Given the description of an element on the screen output the (x, y) to click on. 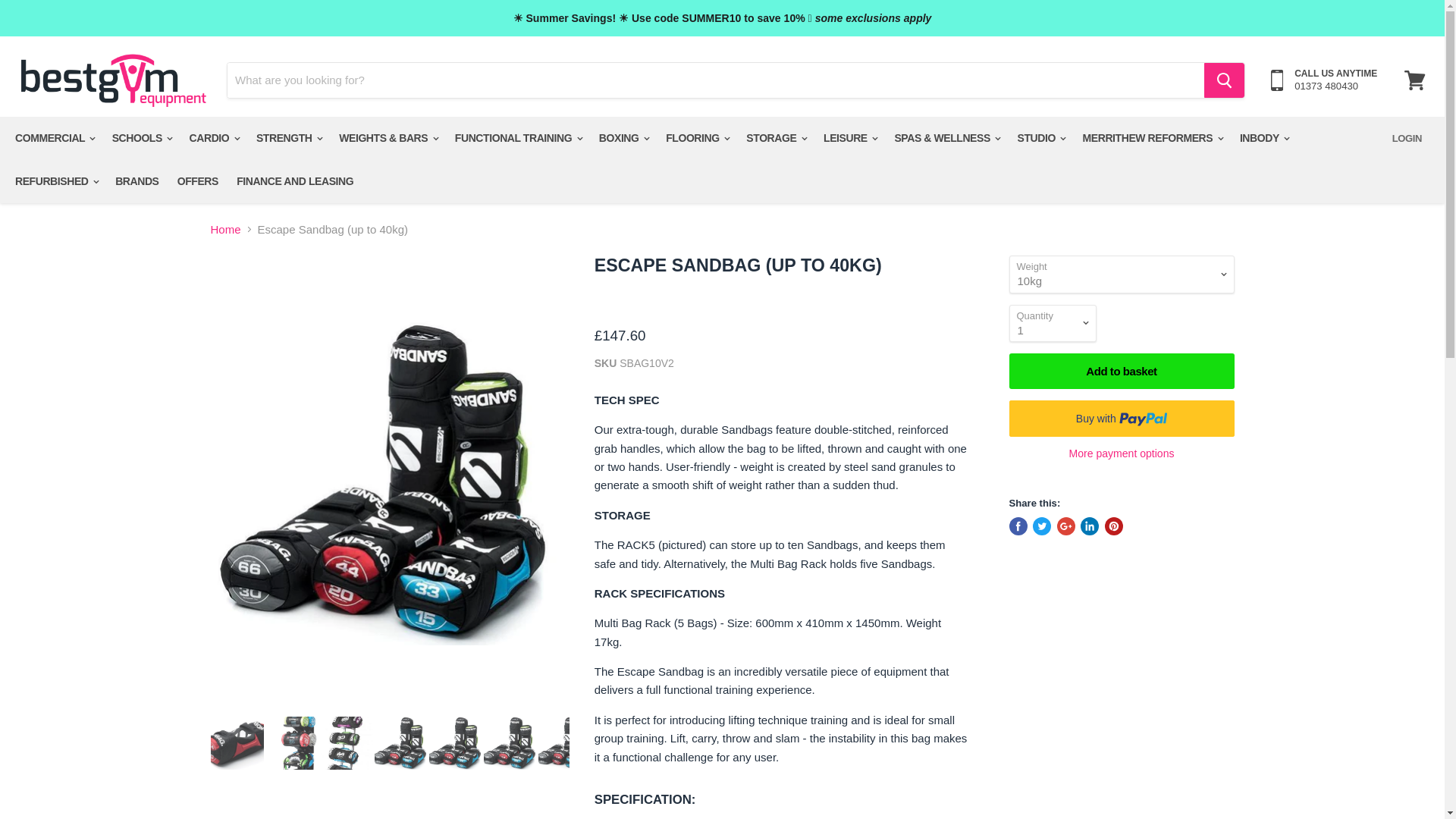
Opens a widget where you can chat to one of our agents (1386, 792)
SCHOOLS (141, 137)
CARDIO (214, 137)
View basket (1414, 80)
COMMERCIAL (53, 137)
